Given the description of an element on the screen output the (x, y) to click on. 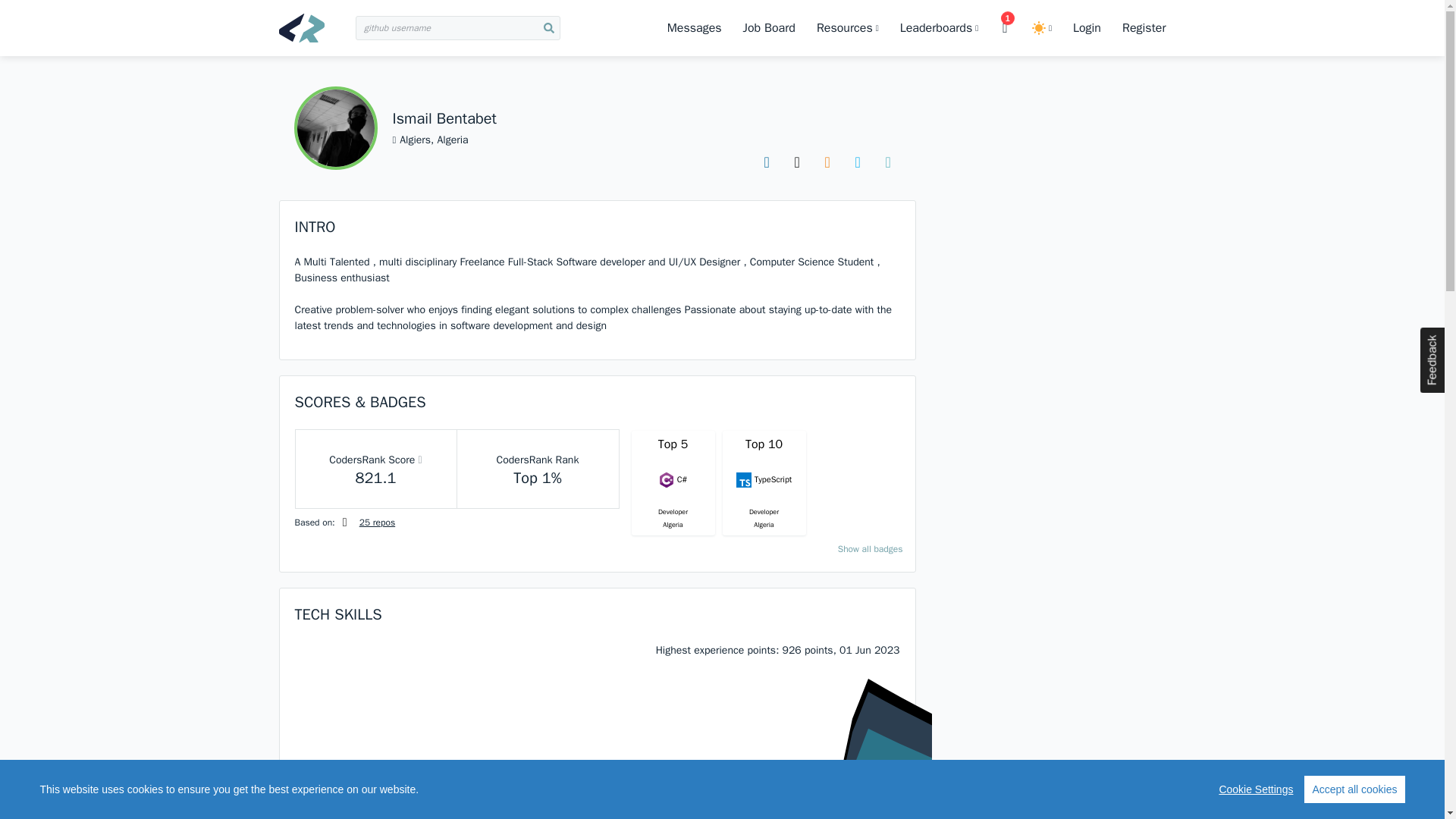
Job Board (768, 27)
Register (1144, 27)
ismailbentabett (335, 127)
Show all badges (870, 548)
Messages (694, 27)
TECH SKILLS (337, 614)
INTRO (314, 226)
Login (1086, 27)
